Given the description of an element on the screen output the (x, y) to click on. 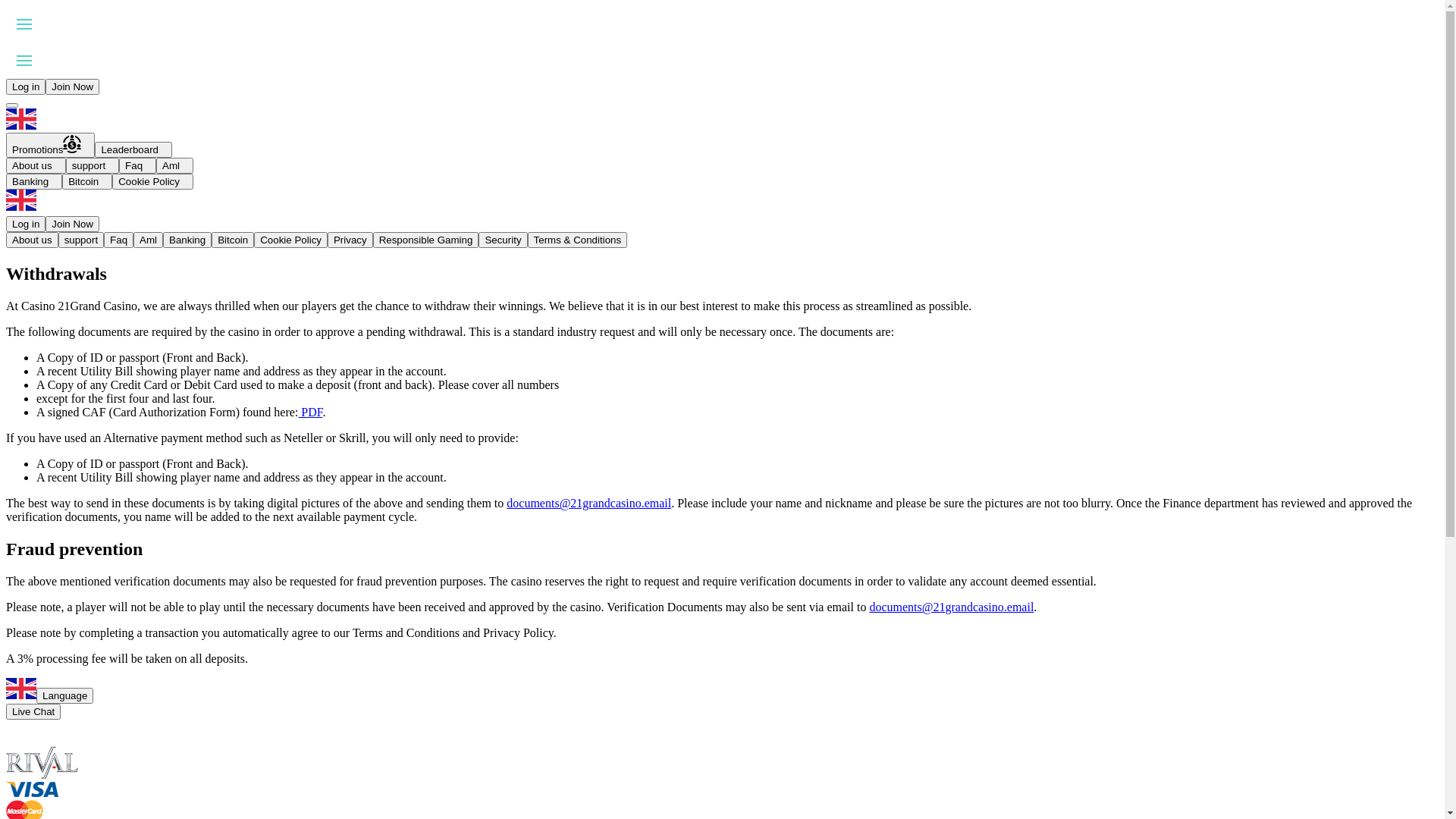
documents@21grandcasino.email Element type: text (588, 502)
support Element type: text (92, 165)
Cookie Policy Element type: text (152, 181)
Bitcoin Element type: text (232, 239)
Faq Element type: text (137, 165)
Responsible Gaming Element type: text (426, 239)
documents@21grandcasino.email Element type: text (951, 606)
Log in Element type: text (25, 86)
Bitcoin Element type: text (87, 181)
Language Element type: text (64, 695)
Security Element type: text (502, 239)
Cookie Policy Element type: text (290, 239)
Aml Element type: text (148, 239)
Promotions Element type: text (50, 144)
Faq Element type: text (118, 239)
Leaderboard Element type: text (133, 149)
Terms & Conditions Element type: text (577, 239)
Aml Element type: text (174, 165)
About us Element type: text (32, 239)
Join Now Element type: text (72, 224)
Live Chat Element type: text (33, 711)
Banking Element type: text (34, 181)
Join Now Element type: text (72, 86)
About us Element type: text (35, 165)
Privacy Element type: text (350, 239)
support Element type: text (80, 239)
Log in Element type: text (25, 224)
Banking Element type: text (187, 239)
PDF Element type: text (310, 411)
